Given the description of an element on the screen output the (x, y) to click on. 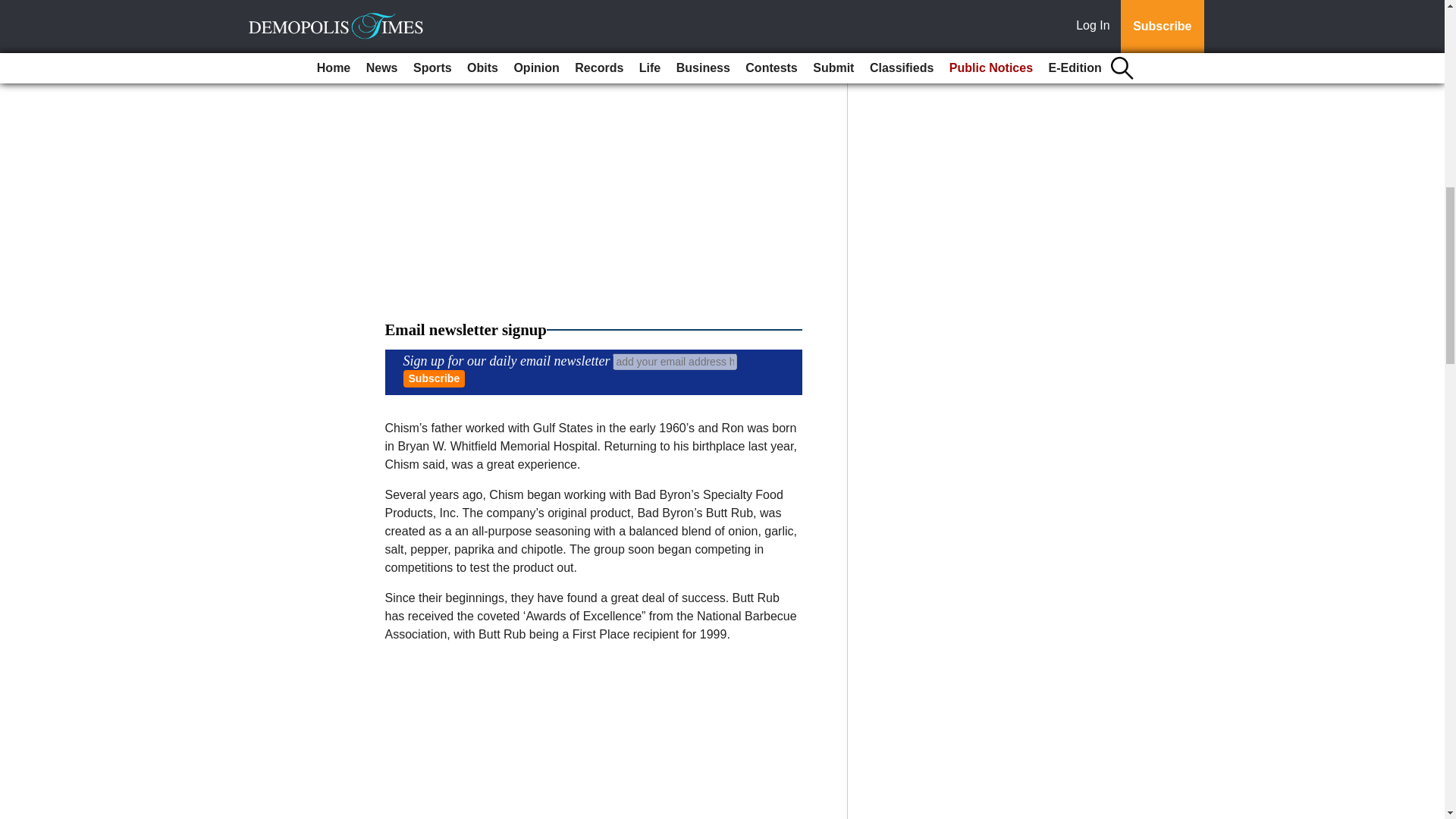
Subscribe (434, 378)
Subscribe (434, 378)
